Given the description of an element on the screen output the (x, y) to click on. 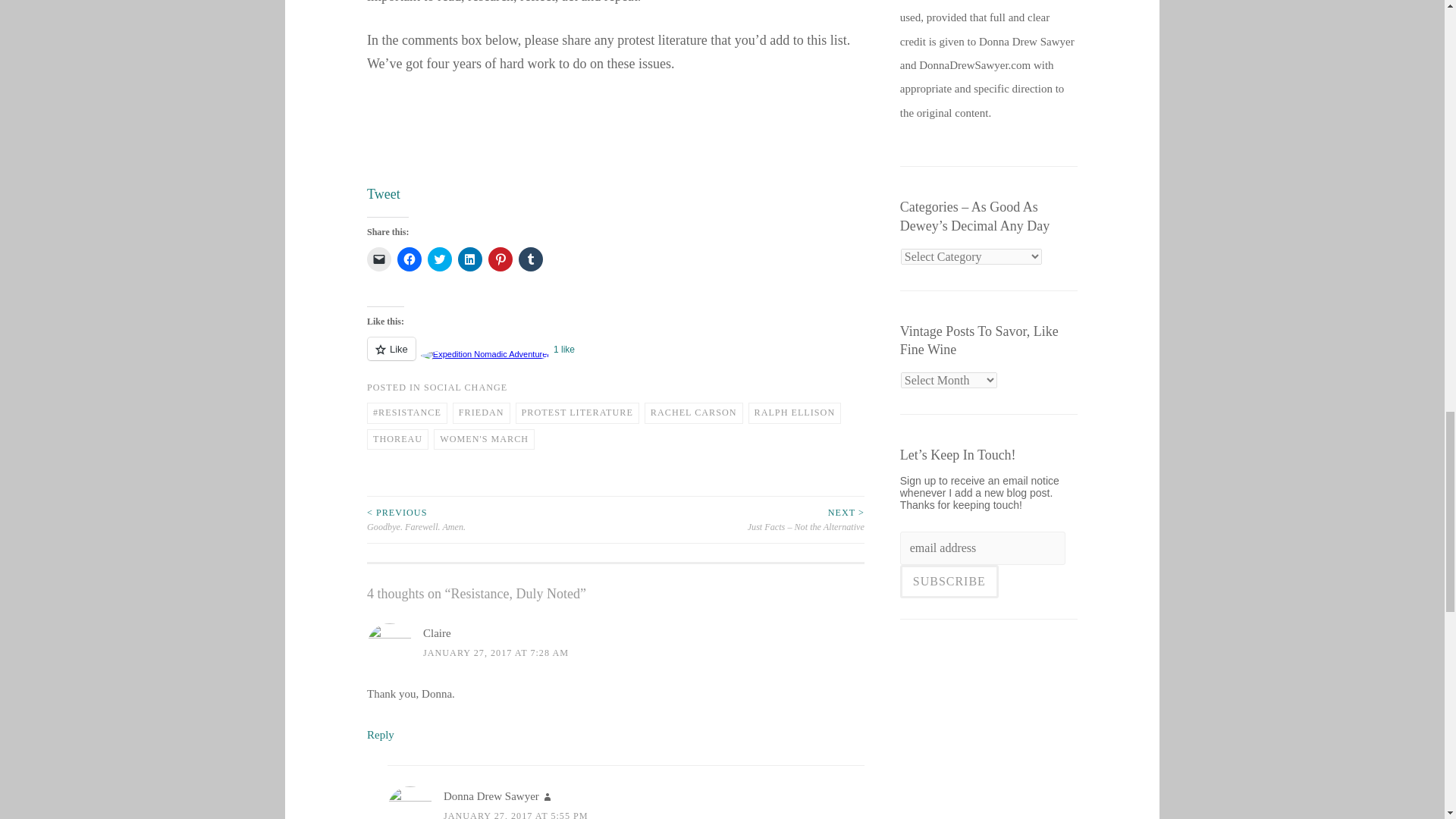
Click to share on LinkedIn (469, 259)
Like or Reblog (615, 357)
Click to share on Twitter (439, 259)
Click to share on Tumblr (530, 259)
Click to share on Facebook (409, 259)
SOCIAL CHANGE (464, 387)
Click to share on Pinterest (499, 259)
Tweet (383, 193)
Click to email a link to a friend (378, 259)
Subscribe (948, 581)
